Given the description of an element on the screen output the (x, y) to click on. 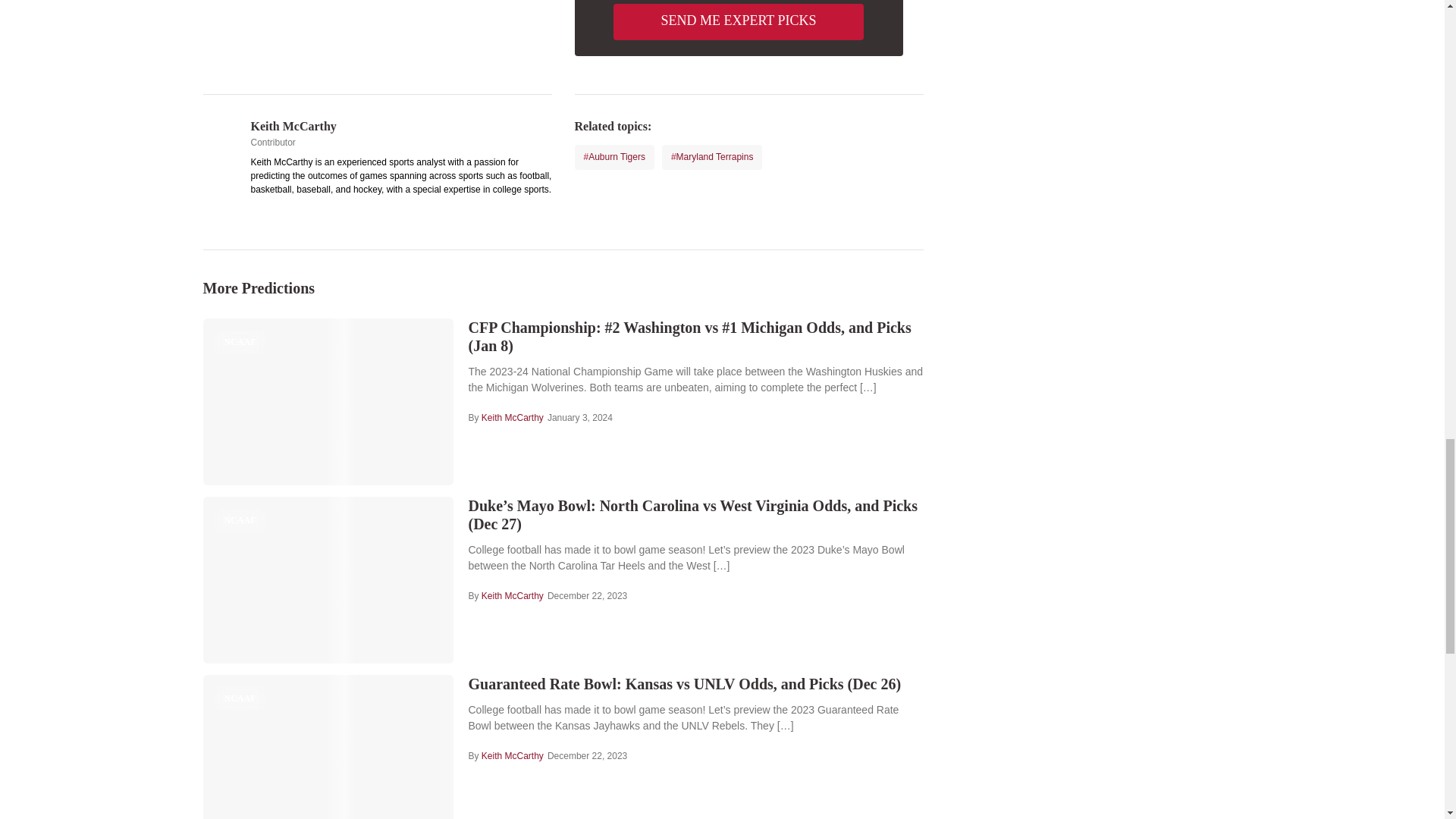
Posts by Keith McCarthy (512, 594)
Posts by Keith McCarthy (293, 125)
Posts by Keith McCarthy (512, 756)
SEND ME EXPERT PICKS (737, 21)
Posts by Keith McCarthy (512, 417)
